Given the description of an element on the screen output the (x, y) to click on. 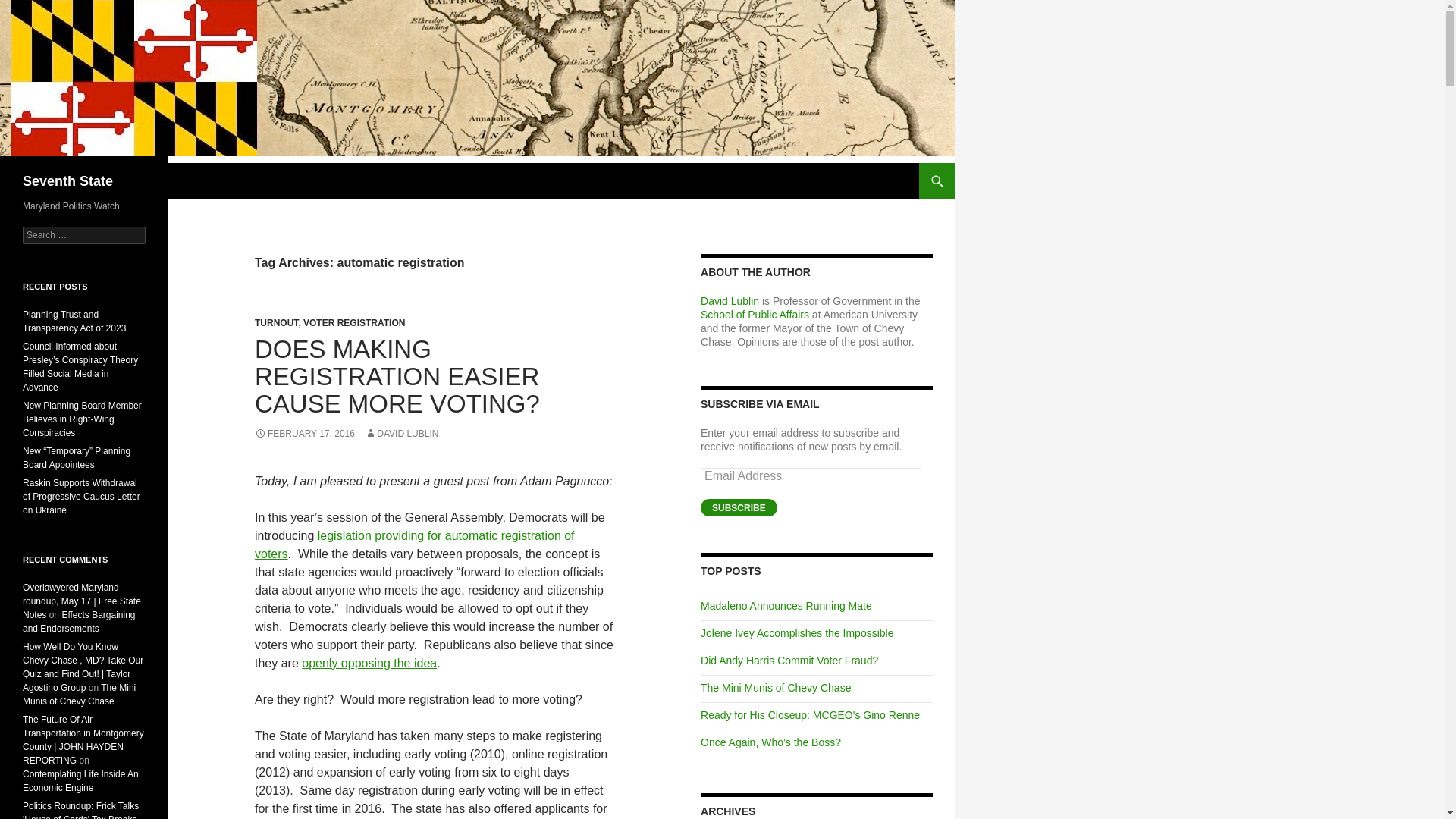
DAVID LUBLIN (401, 433)
Did Andy Harris Commit Voter Fraud? (788, 660)
School of Public Affairs (754, 314)
legislation providing for automatic registration of voters (414, 544)
openly opposing the idea (368, 662)
DOES MAKING REGISTRATION EASIER CAUSE MORE VOTING? (397, 375)
SUBSCRIBE (738, 507)
Ready for His Closeup: MCGEO's Gino Renne (810, 715)
Jolene Ivey Accomplishes the Impossible (796, 633)
David Lublin (729, 300)
Seventh State (68, 180)
VOTER REGISTRATION (353, 322)
TURNOUT (276, 322)
Madaleno Announces Running Mate (786, 605)
